Given the description of an element on the screen output the (x, y) to click on. 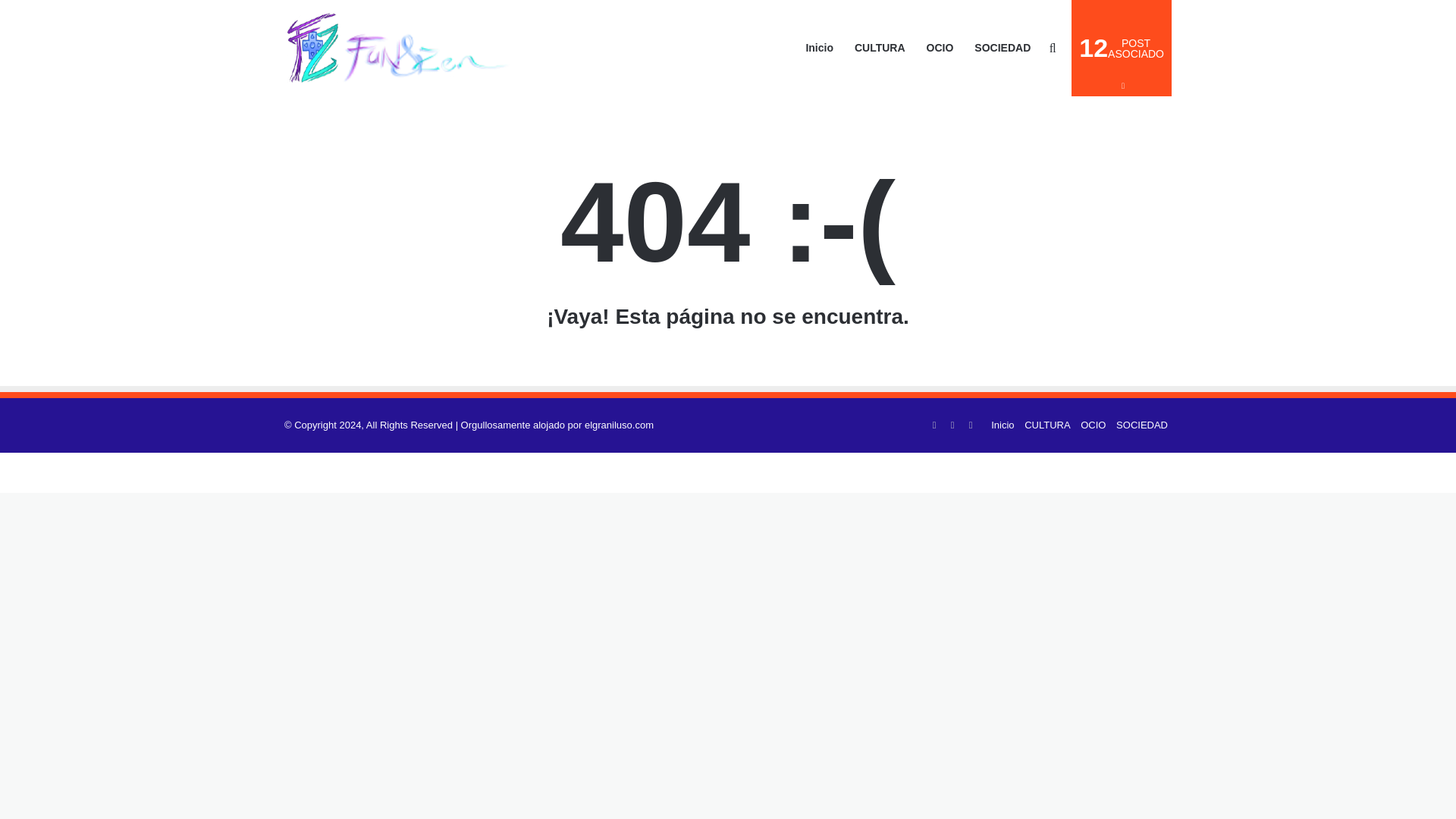
Inicio (1002, 424)
OCIO (1092, 424)
X (951, 425)
SOCIEDAD (1141, 424)
YouTube (1121, 48)
CULTURA (969, 425)
Facebook (1047, 424)
